Given the description of an element on the screen output the (x, y) to click on. 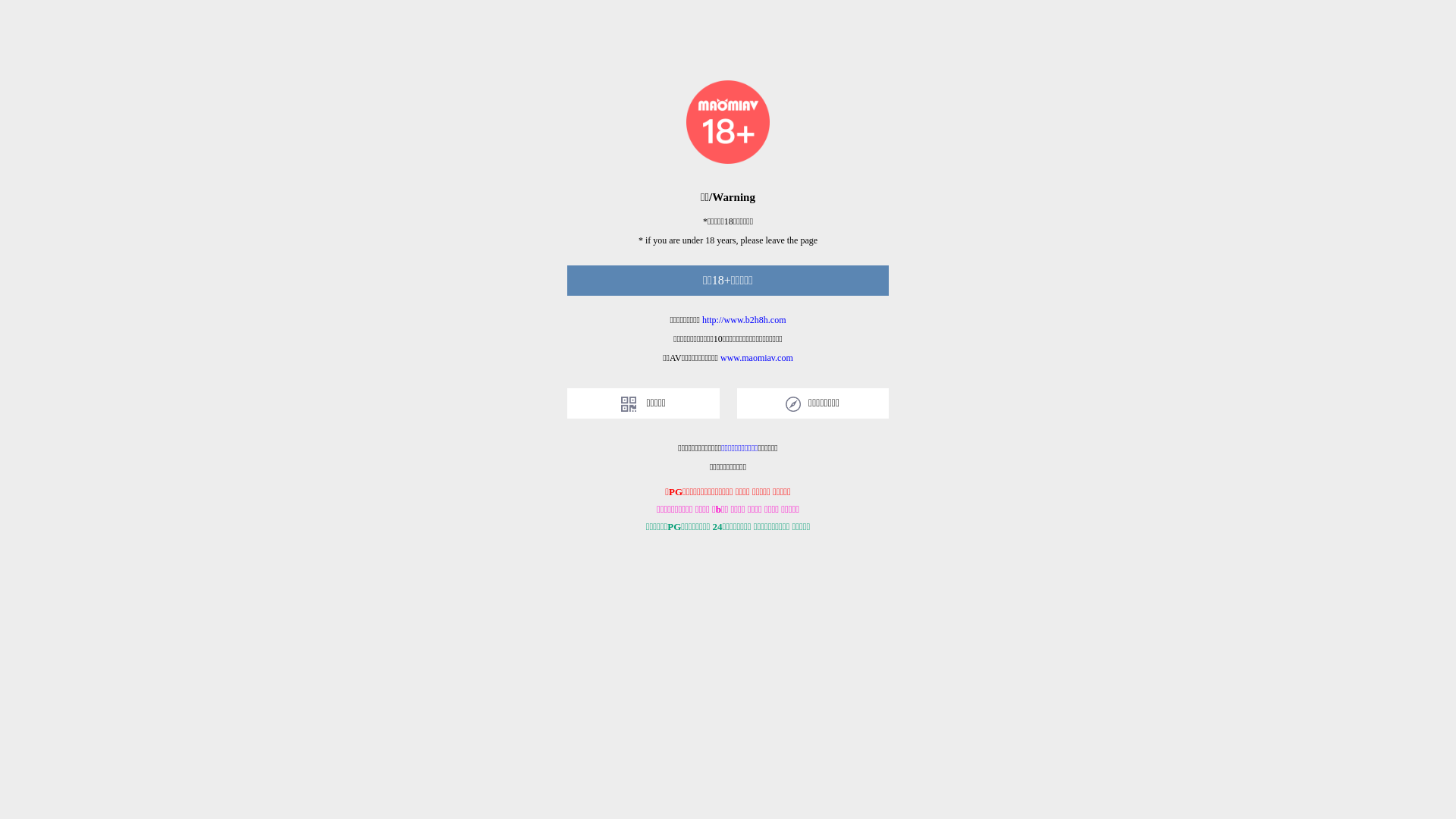
www.maomiav.com Element type: text (756, 357)
http://www.b2h8h.com Element type: text (744, 319)
